Given the description of an element on the screen output the (x, y) to click on. 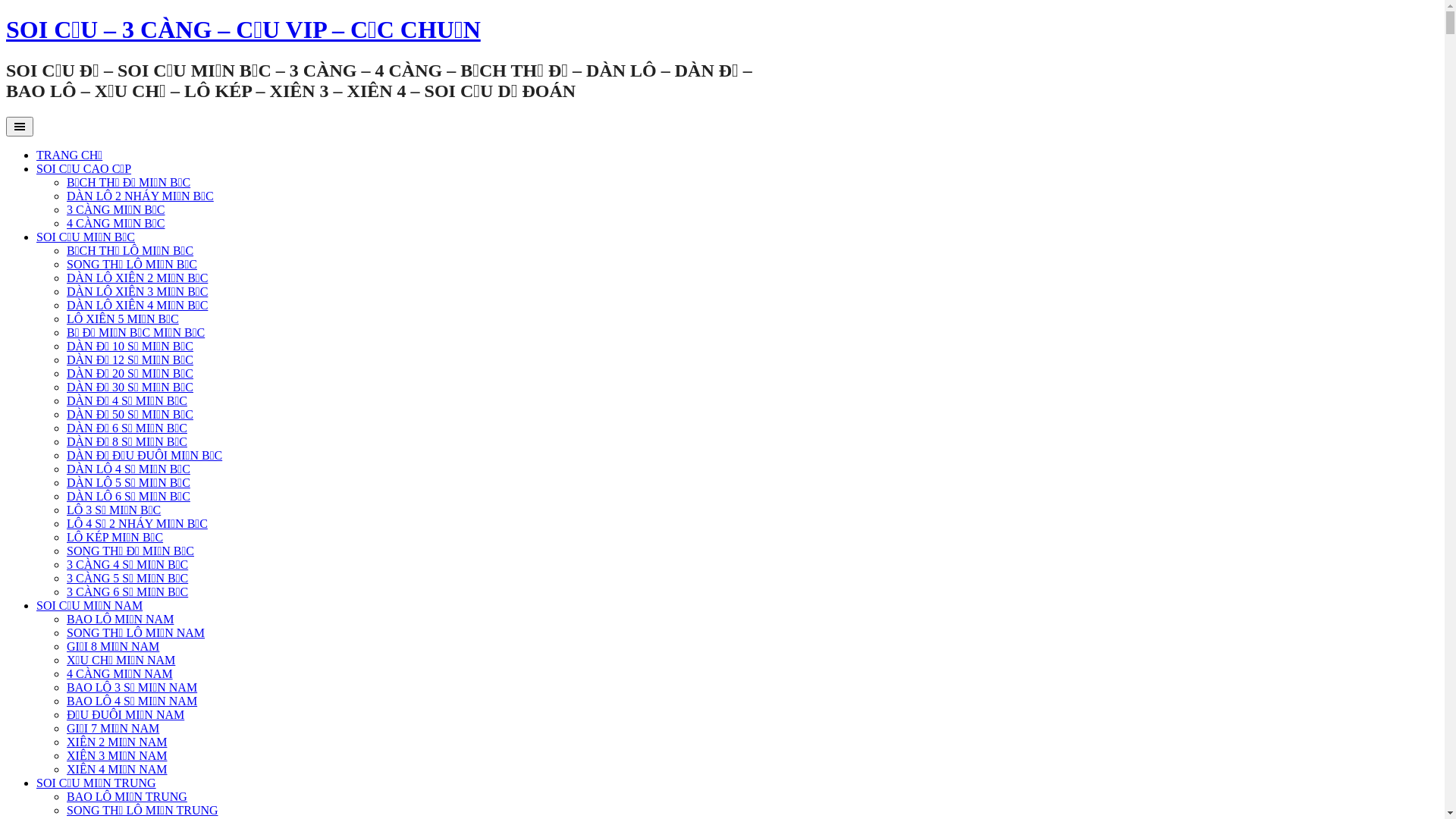
Skip to content Element type: text (5, 15)
